Given the description of an element on the screen output the (x, y) to click on. 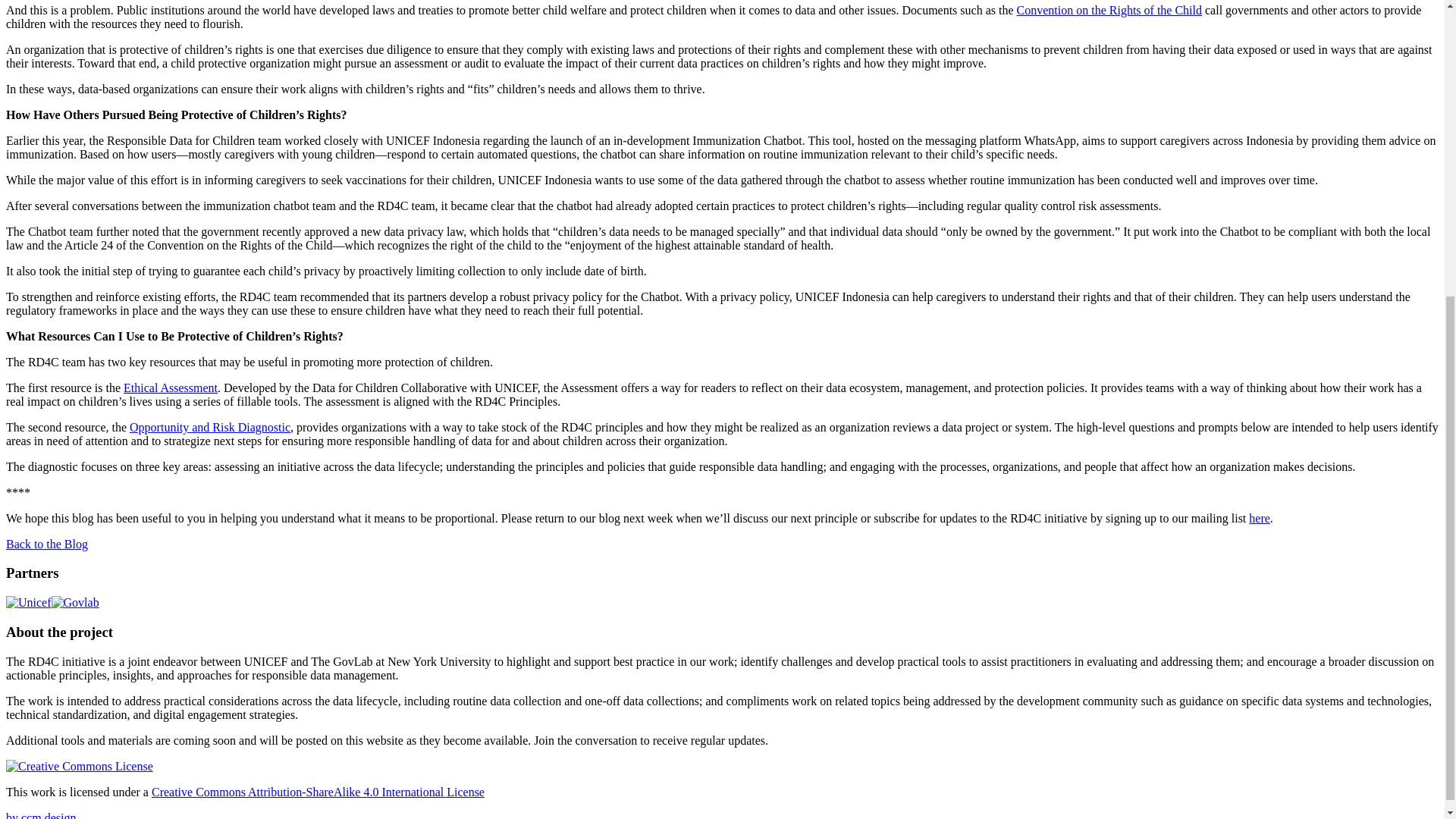
Ethical Assessment (169, 387)
Back to the Blog (46, 543)
Convention on the Rights of the Child (1109, 10)
Opportunity and Risk Diagnostic (209, 427)
here (1259, 517)
